Given the description of an element on the screen output the (x, y) to click on. 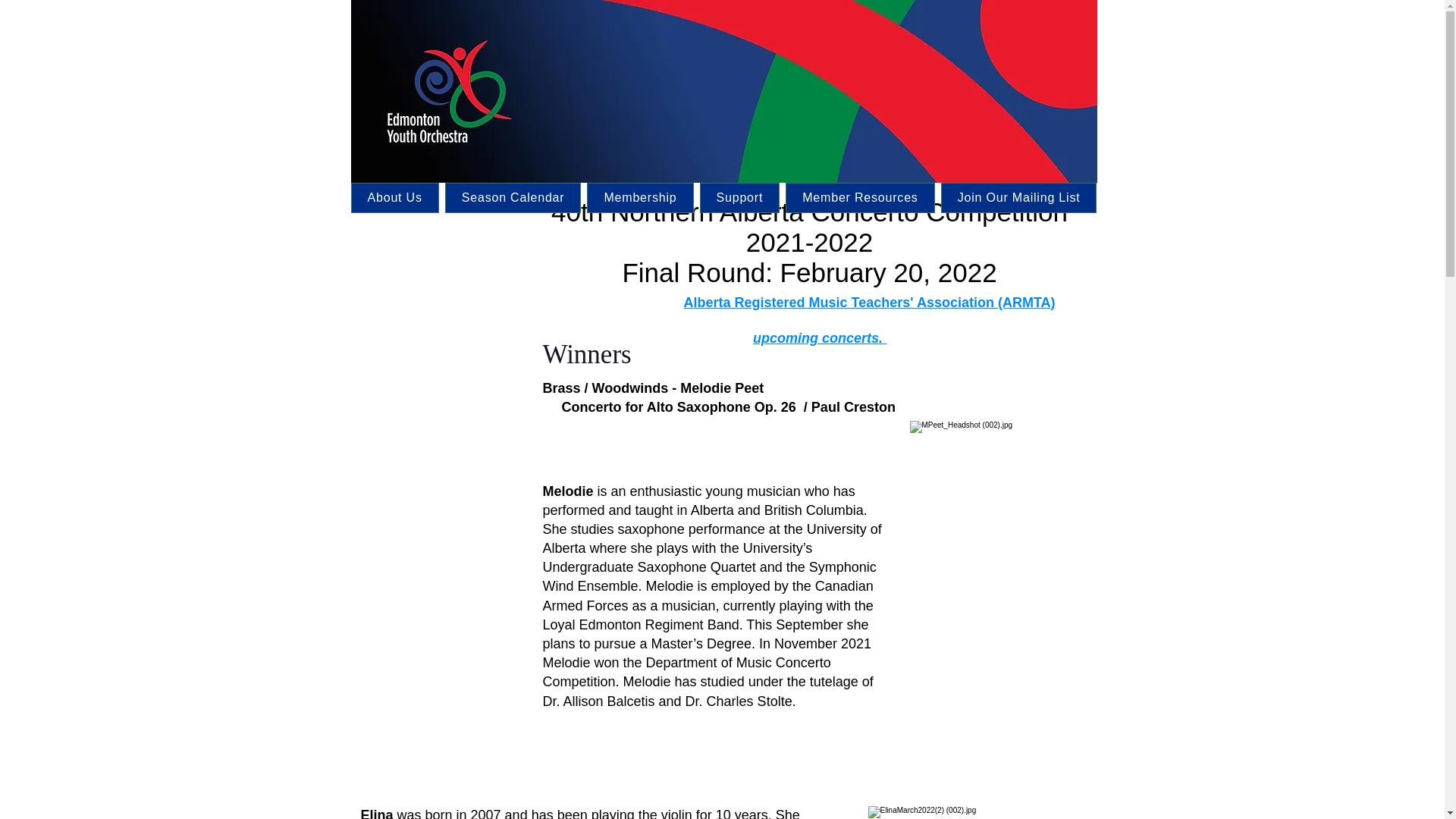
About Us (394, 197)
Season Calendar (512, 197)
Membership (639, 197)
upcoming concerts.  (819, 337)
Member Resources (860, 197)
Join Our Mailing List (1018, 197)
